Given the description of an element on the screen output the (x, y) to click on. 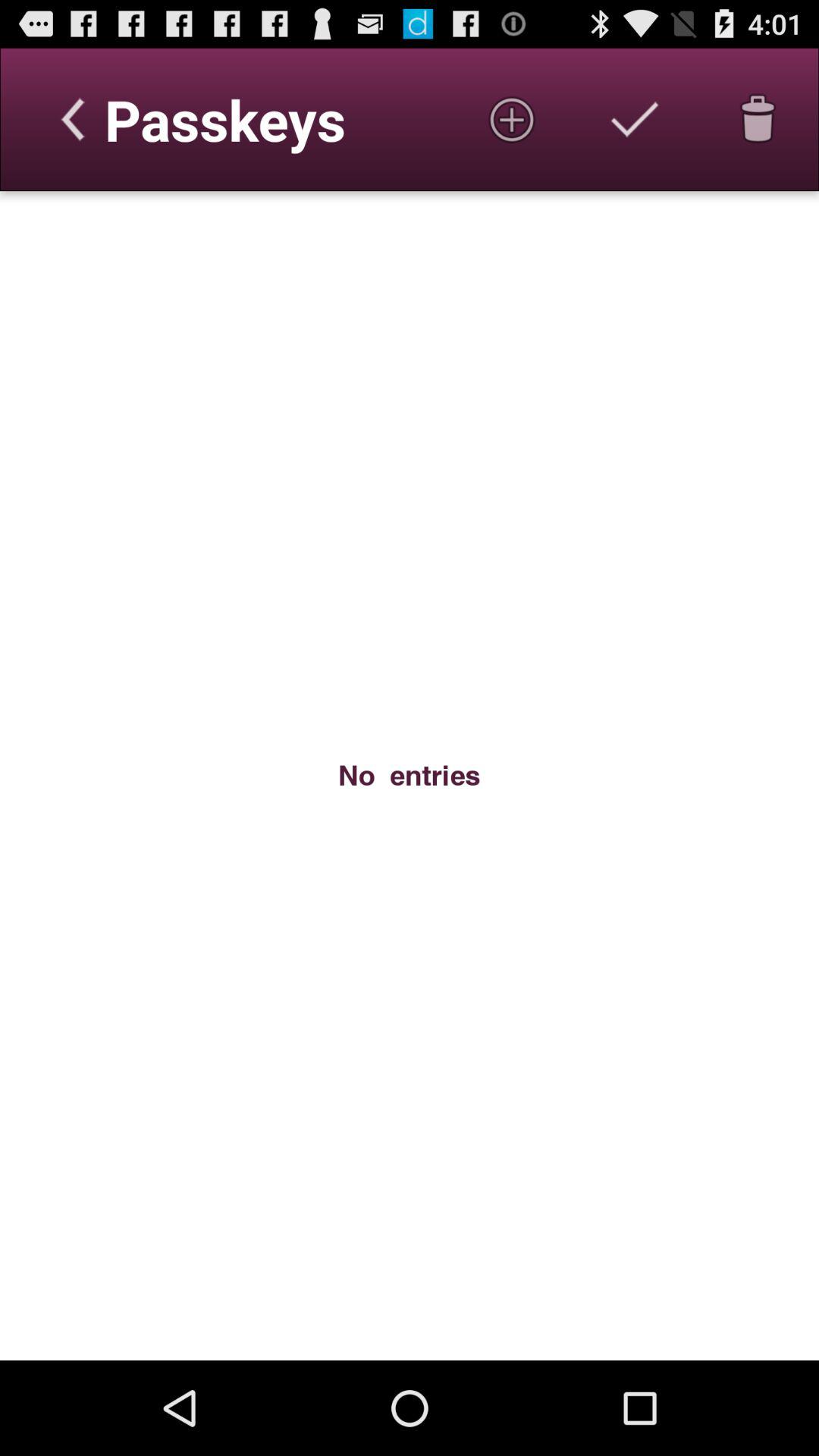
add passkey (511, 119)
